Given the description of an element on the screen output the (x, y) to click on. 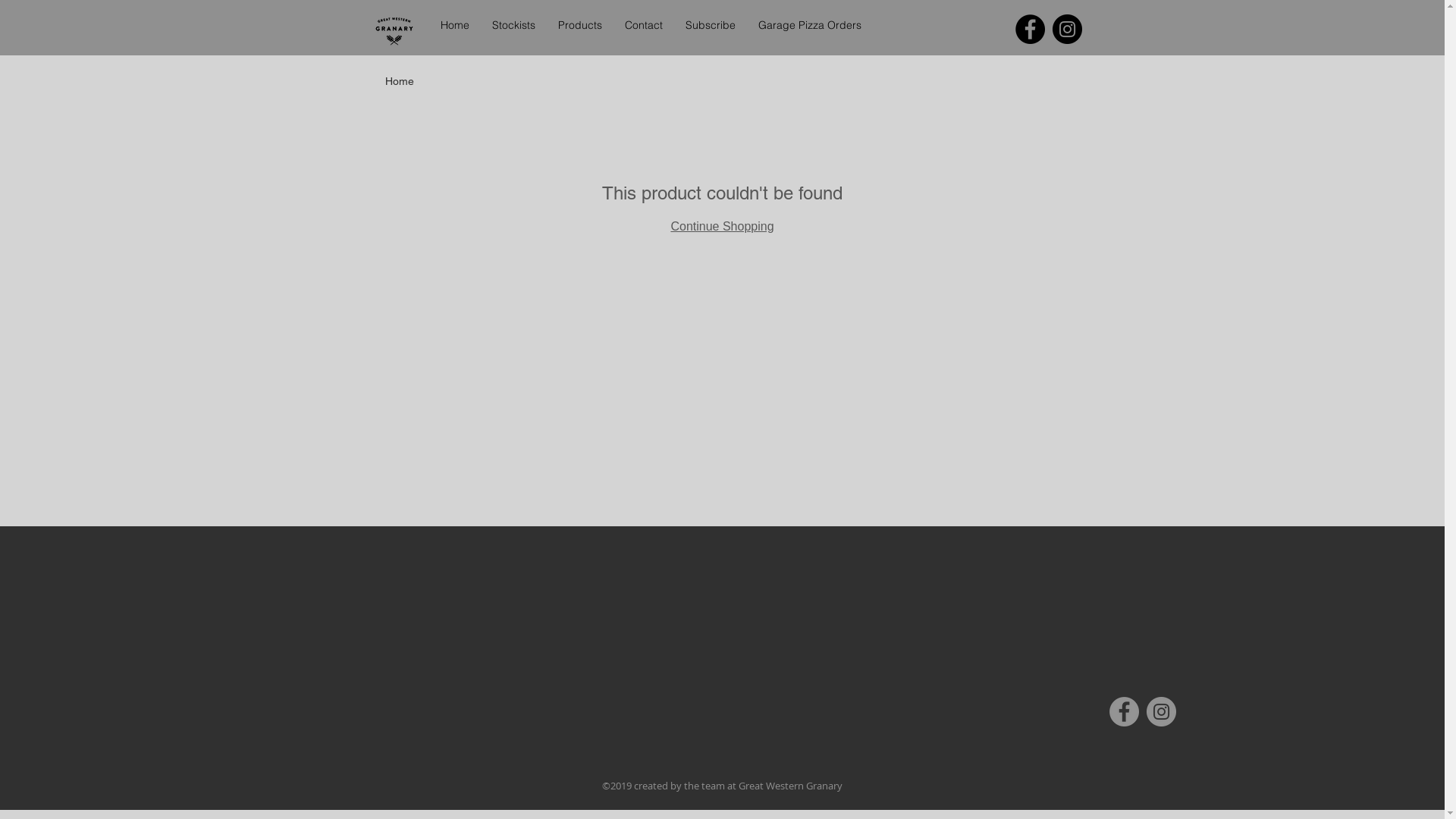
Garage Pizza Orders Element type: text (809, 25)
Stockists Element type: text (513, 25)
Subscribe Element type: text (709, 25)
Continue Shopping Element type: text (721, 225)
Products Element type: text (579, 25)
Contact Element type: text (642, 25)
Home Element type: text (454, 25)
Home Element type: text (399, 81)
